Given the description of an element on the screen output the (x, y) to click on. 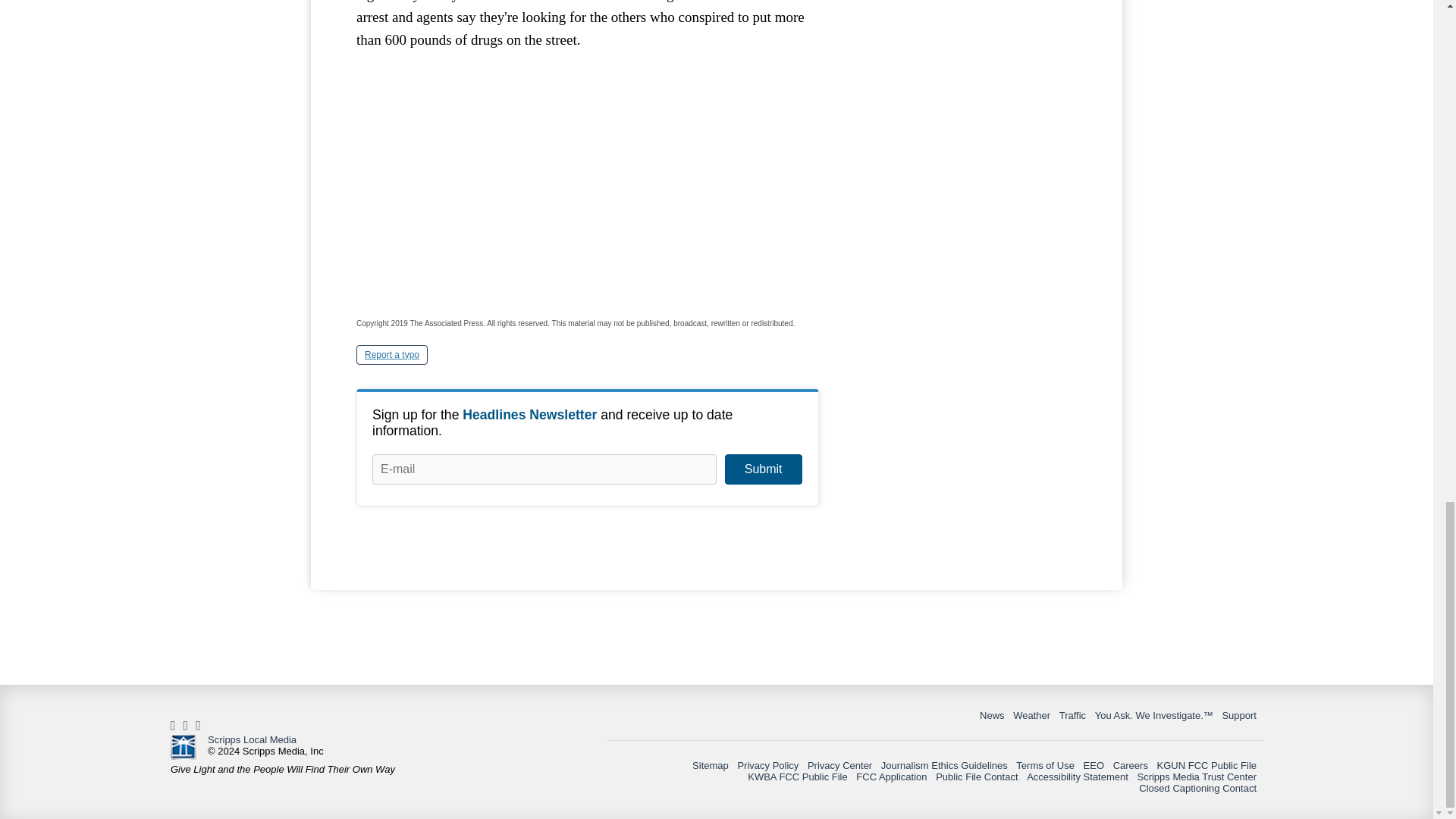
Submit (763, 469)
